Given the description of an element on the screen output the (x, y) to click on. 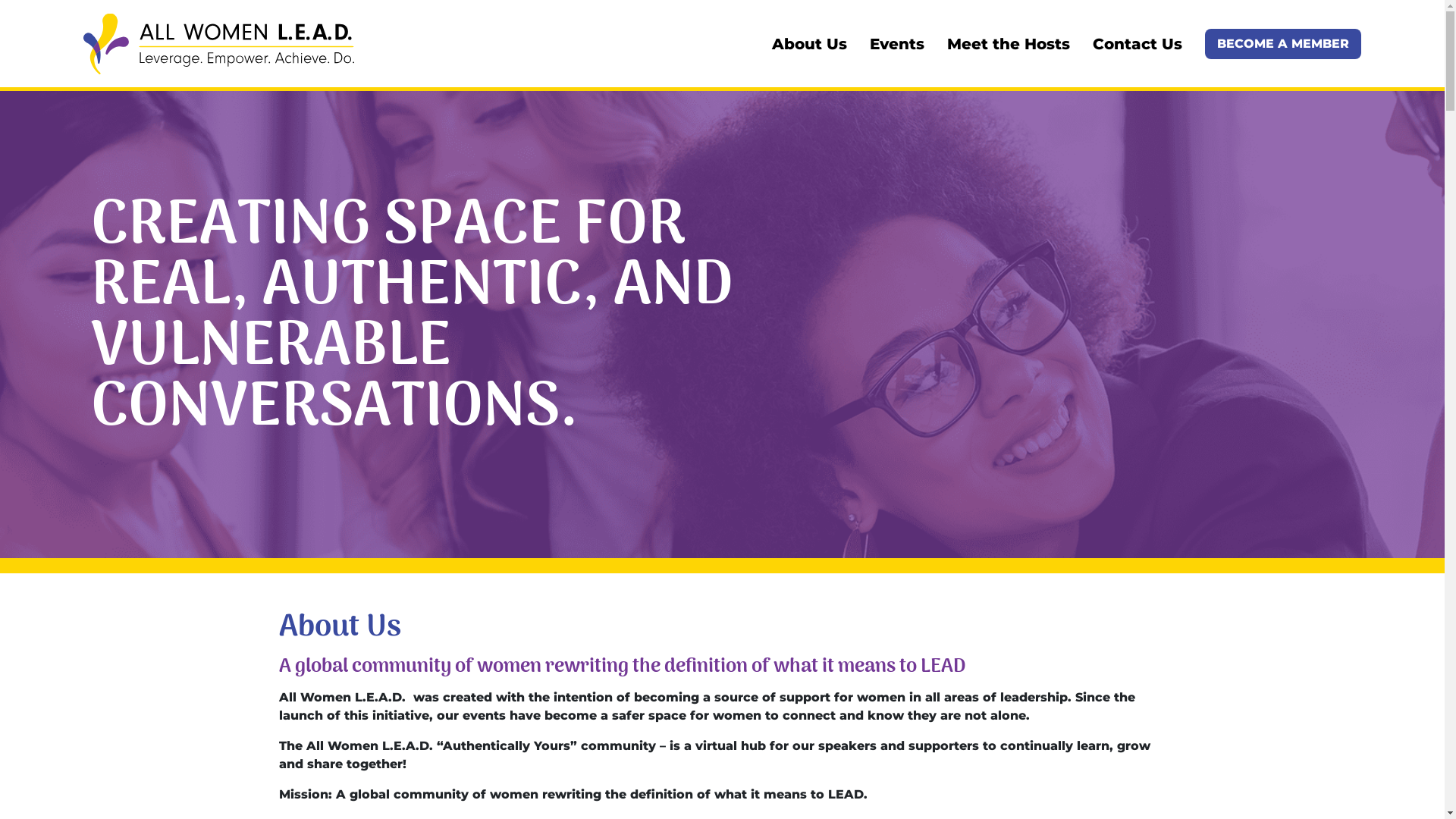
Meet the Hosts Element type: text (1008, 43)
Contact Us Element type: text (1137, 43)
About Us Element type: text (809, 43)
Events Element type: text (896, 43)
BECOME A MEMBER Element type: text (1282, 43)
